Given the description of an element on the screen output the (x, y) to click on. 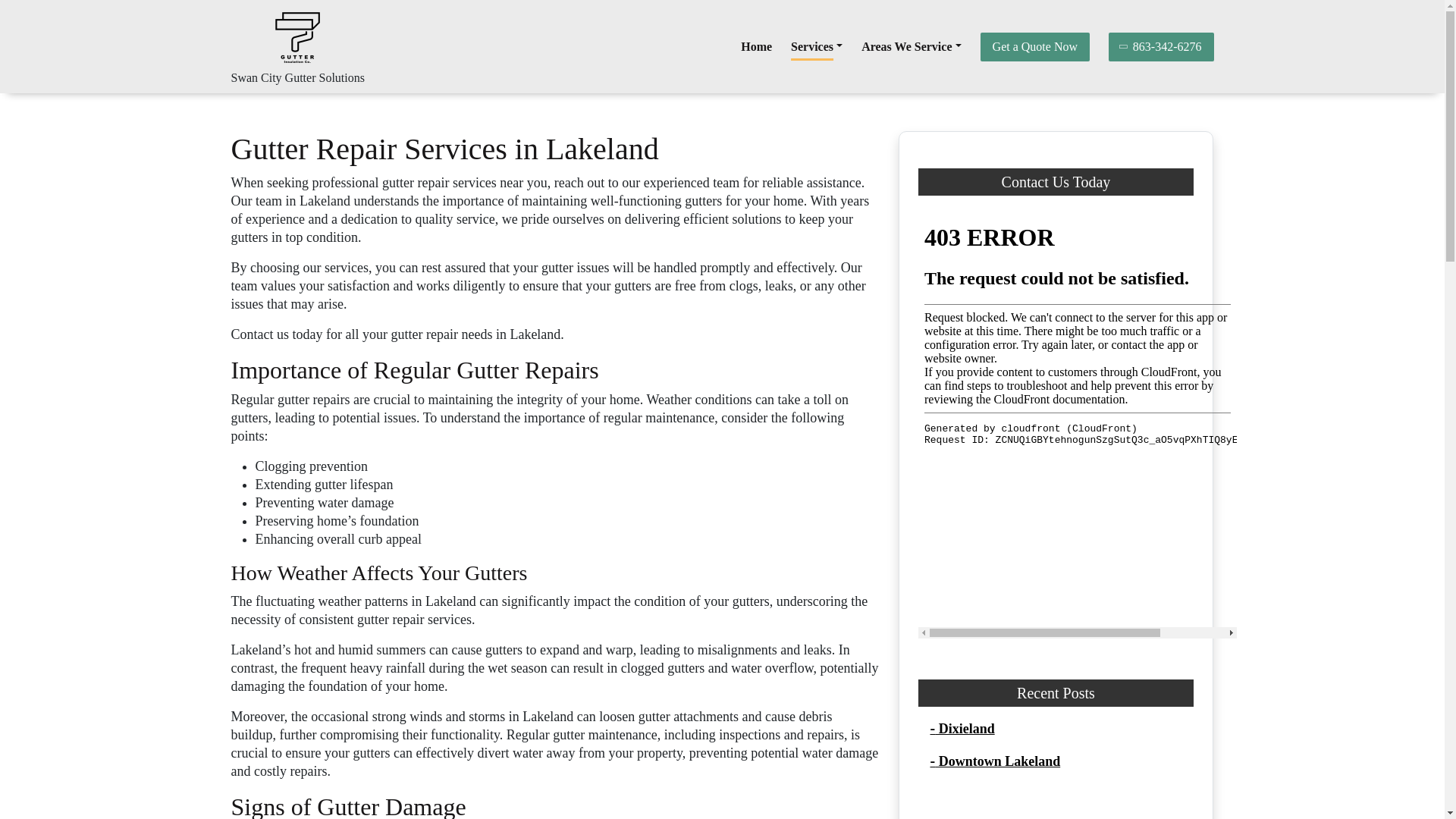
Get a Quote Now (1034, 45)
Home (756, 46)
- Downtown Lakeland (994, 761)
863-342-6276 (1161, 45)
Services (816, 46)
Areas We Service (910, 46)
- Dixieland (962, 728)
Swan City Gutter Solutions (297, 77)
Home (756, 46)
Services (816, 46)
